Given the description of an element on the screen output the (x, y) to click on. 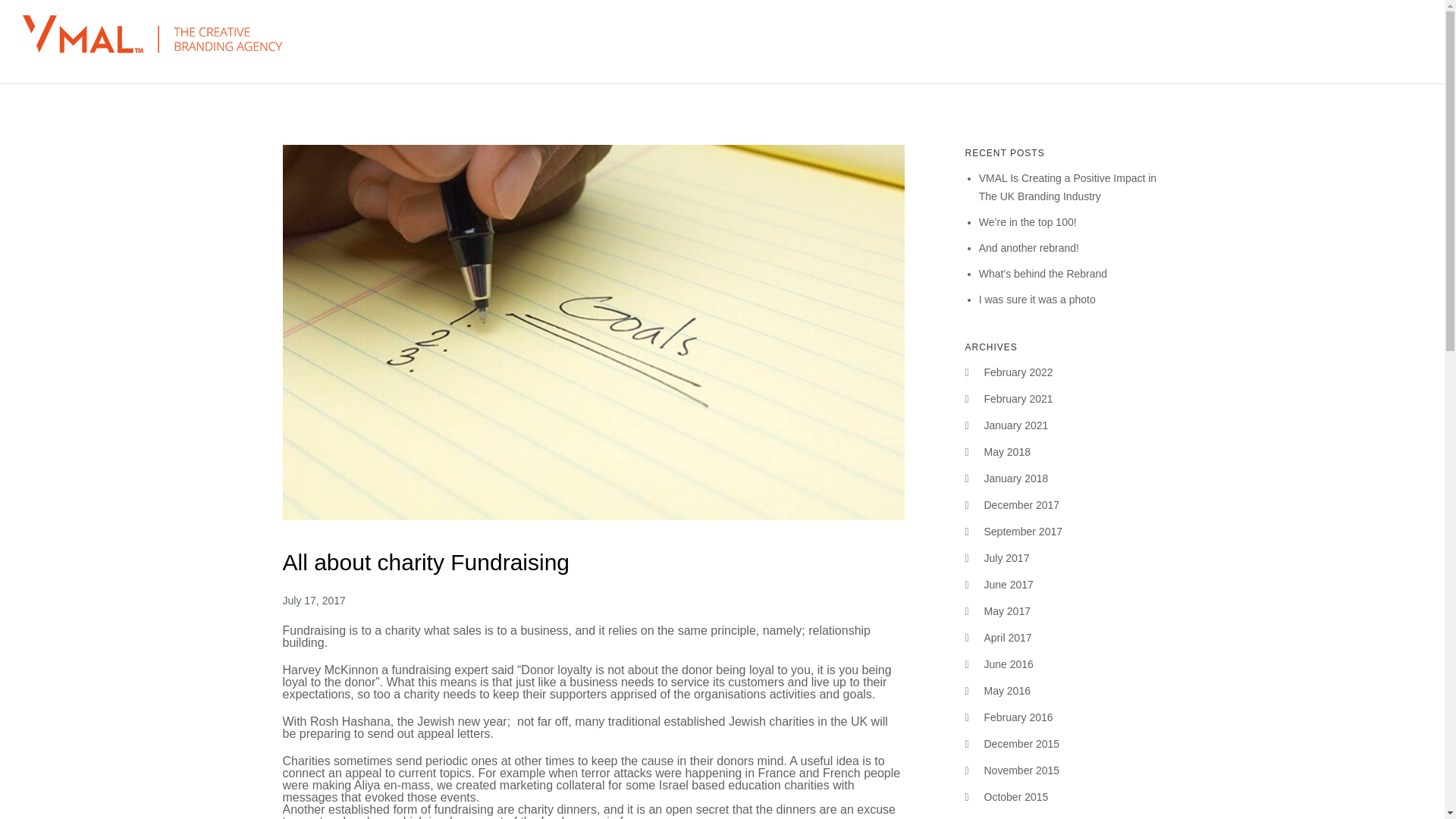
December 2017 (1021, 504)
February 2021 (1018, 398)
September 2017 (1023, 531)
PORTFOLIO (1165, 41)
May 2017 (1007, 611)
THE AGENCY (1054, 41)
CONTACT (1349, 41)
I was sure it was a photo (1037, 299)
June 2016 (1008, 664)
